Given the description of an element on the screen output the (x, y) to click on. 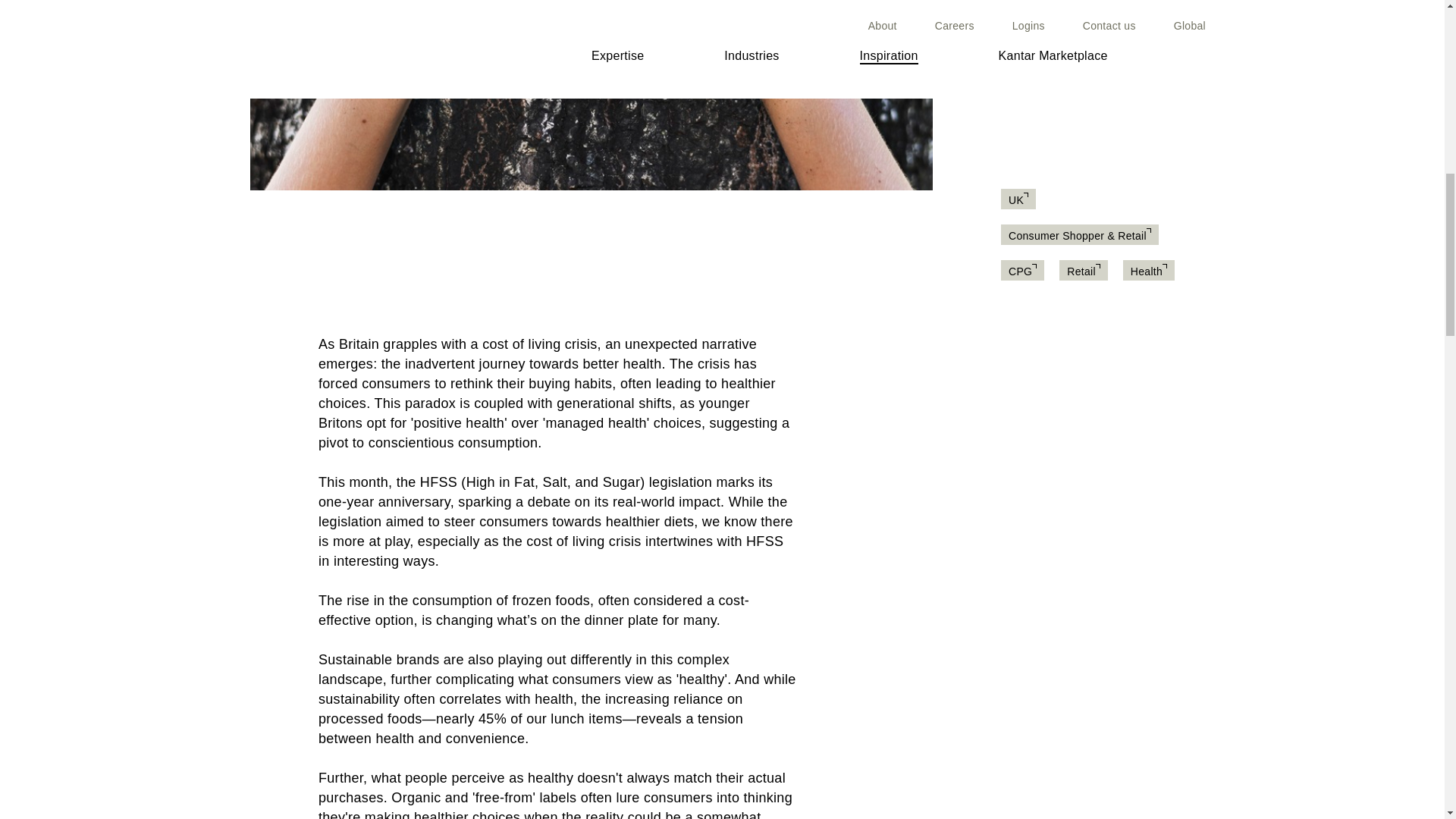
Retail (1083, 271)
CPG (1022, 271)
Consumer Shopper Retail (1080, 235)
UK (1018, 200)
Health (1149, 271)
